Given the description of an element on the screen output the (x, y) to click on. 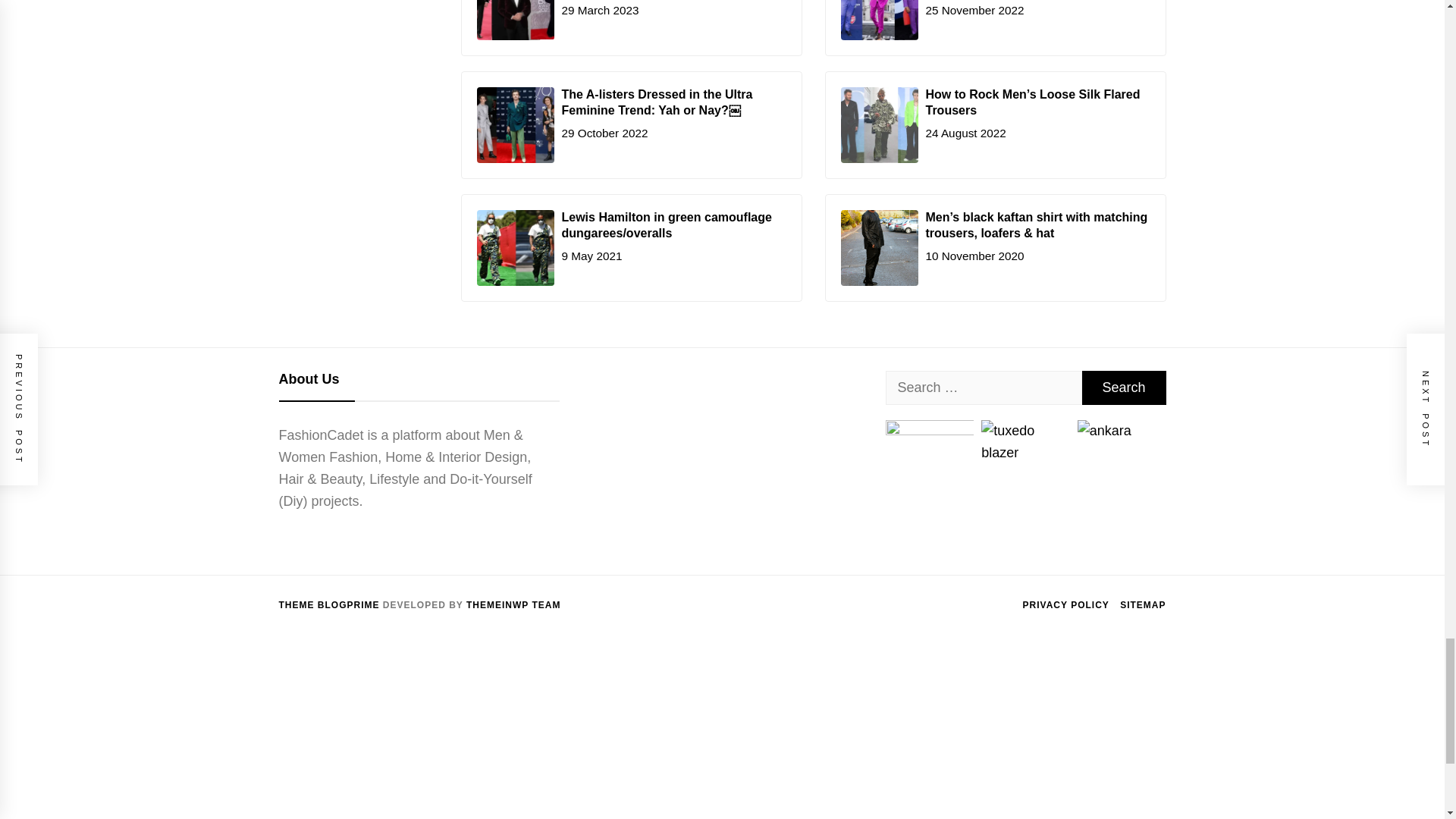
Search (1123, 387)
Search (1123, 387)
